Given the description of an element on the screen output the (x, y) to click on. 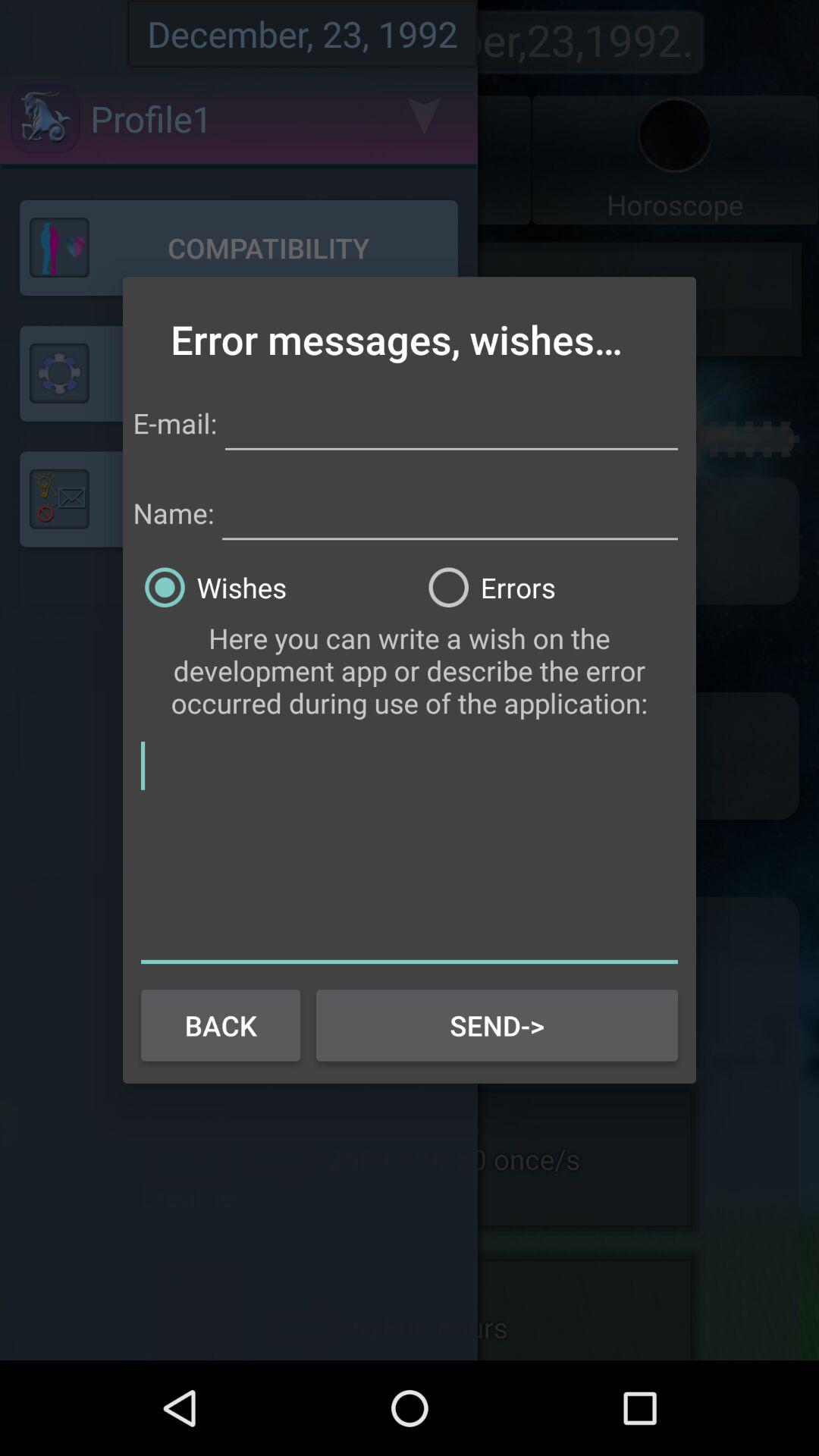
press item above the here you can icon (550, 587)
